Given the description of an element on the screen output the (x, y) to click on. 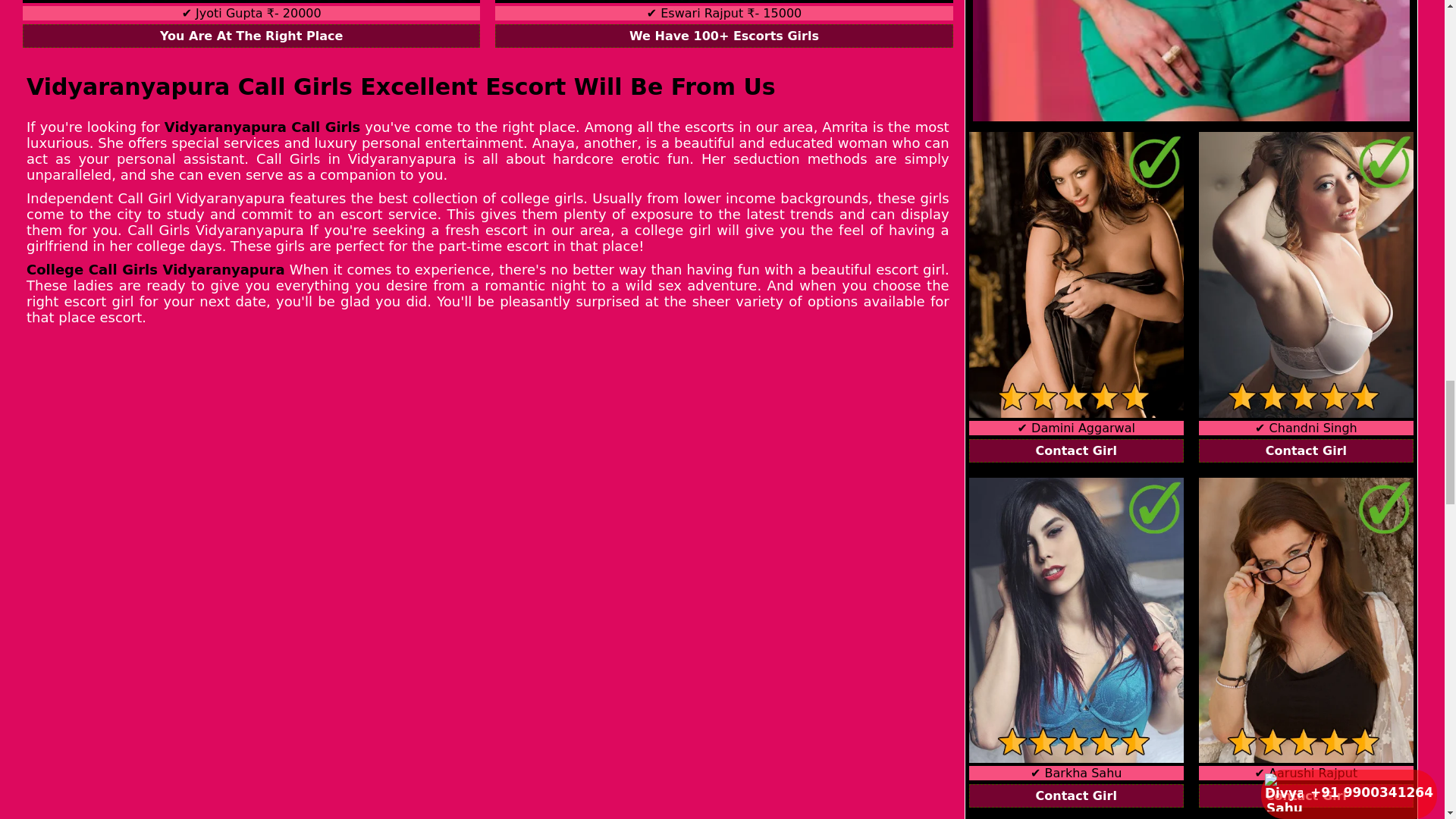
Contact Girl (1076, 795)
Vidyaranyapura Call Girls (262, 126)
Contact Girl (1076, 450)
Contact Girl (1305, 450)
You Are At The Right Place (251, 35)
College Call Girls Vidyaranyapura (155, 269)
